Given the description of an element on the screen output the (x, y) to click on. 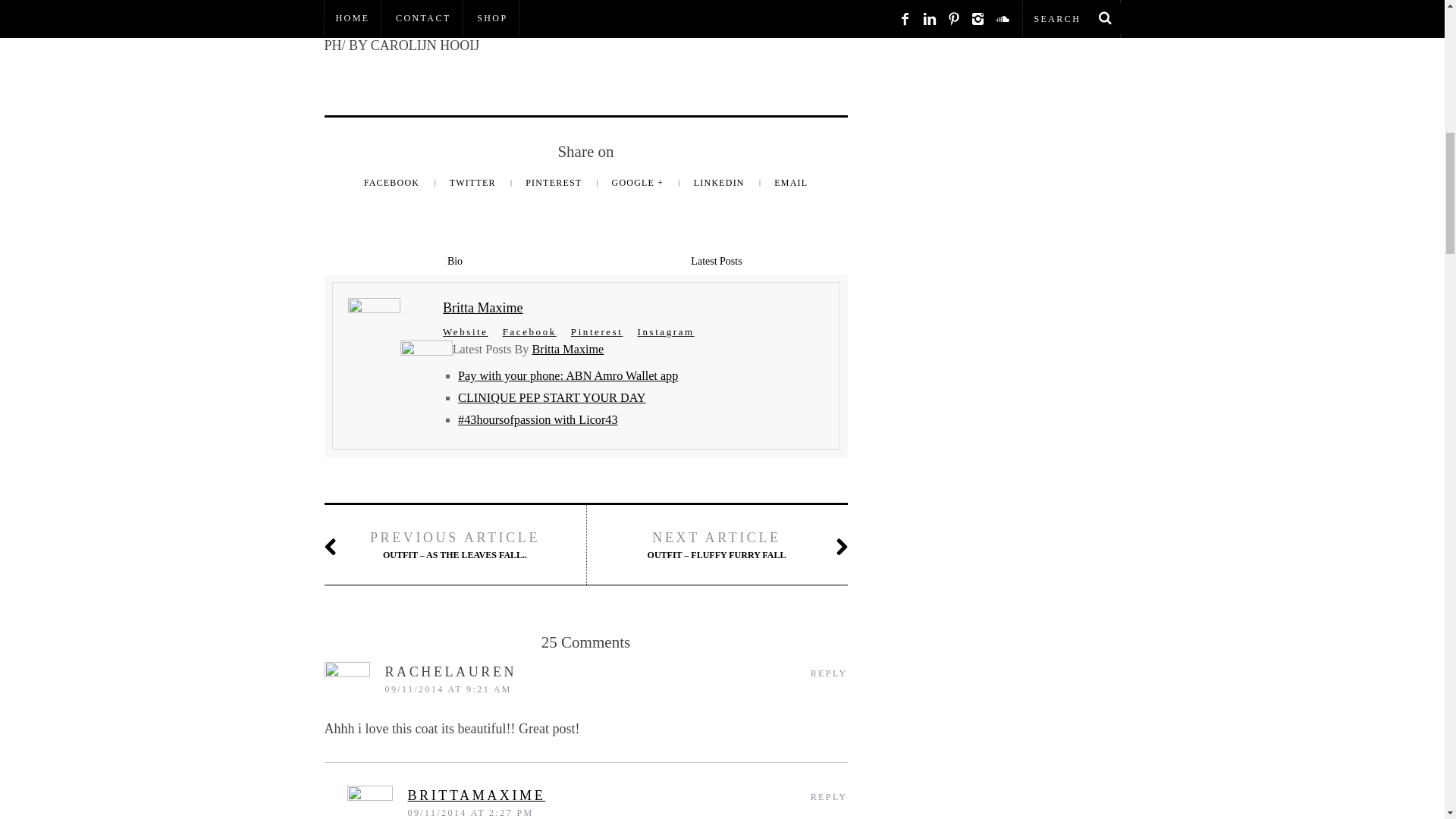
Facebook (529, 331)
Pinterest (596, 331)
EMAIL (791, 182)
PINTEREST (555, 182)
Twitter (629, 11)
Britta Maxime (482, 307)
Bloglovin' (434, 11)
FACEBOOK (393, 182)
Bio (455, 261)
LINKEDIN (721, 182)
